Given the description of an element on the screen output the (x, y) to click on. 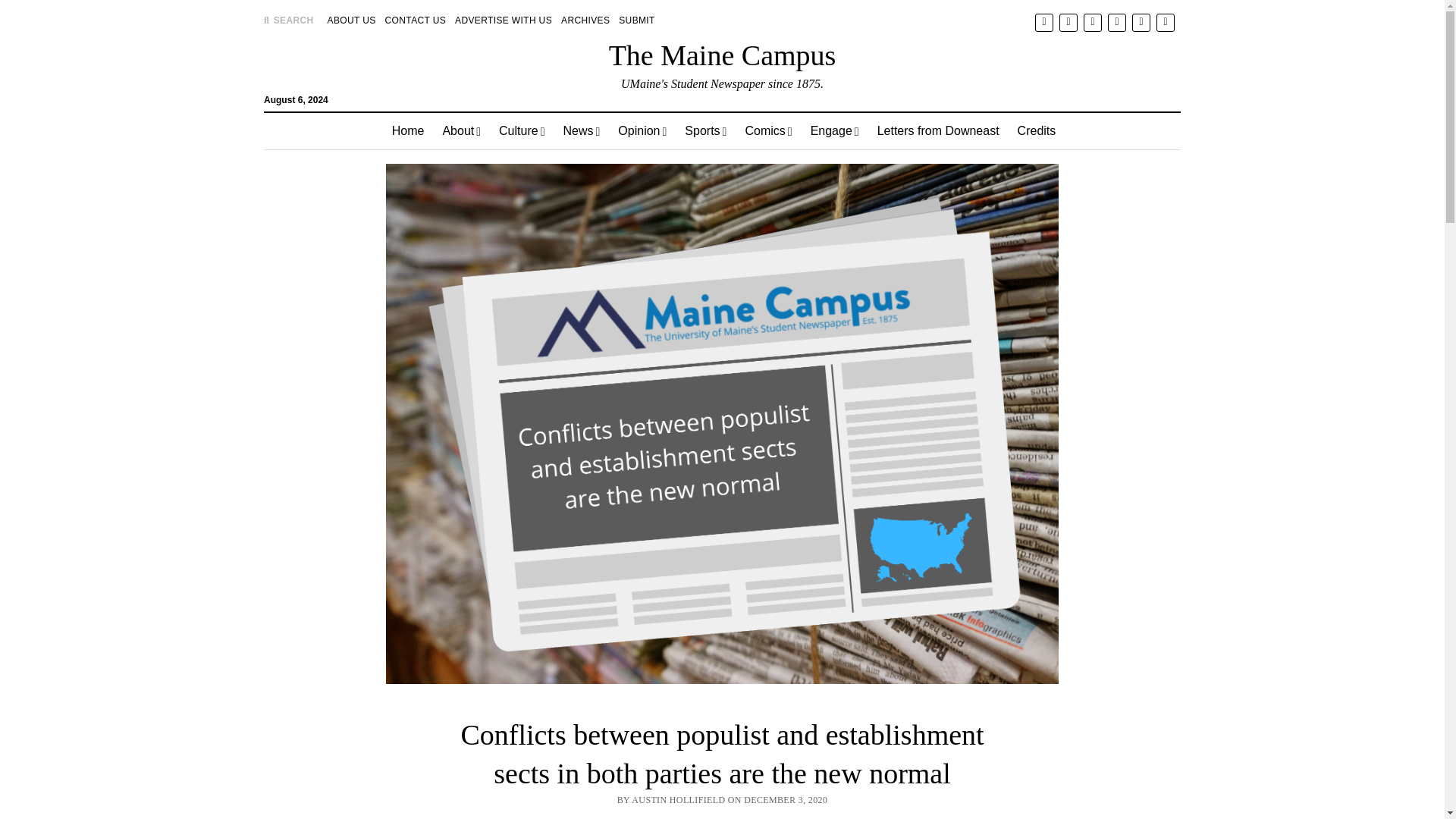
Search (945, 129)
News (580, 131)
SUBMIT (636, 20)
ABOUT US (351, 20)
Culture (521, 131)
ARCHIVES (585, 20)
Home (407, 131)
About (460, 131)
ADVERTISE WITH US (502, 20)
SEARCH (288, 20)
CONTACT US (415, 20)
The Maine Campus (721, 55)
